Given the description of an element on the screen output the (x, y) to click on. 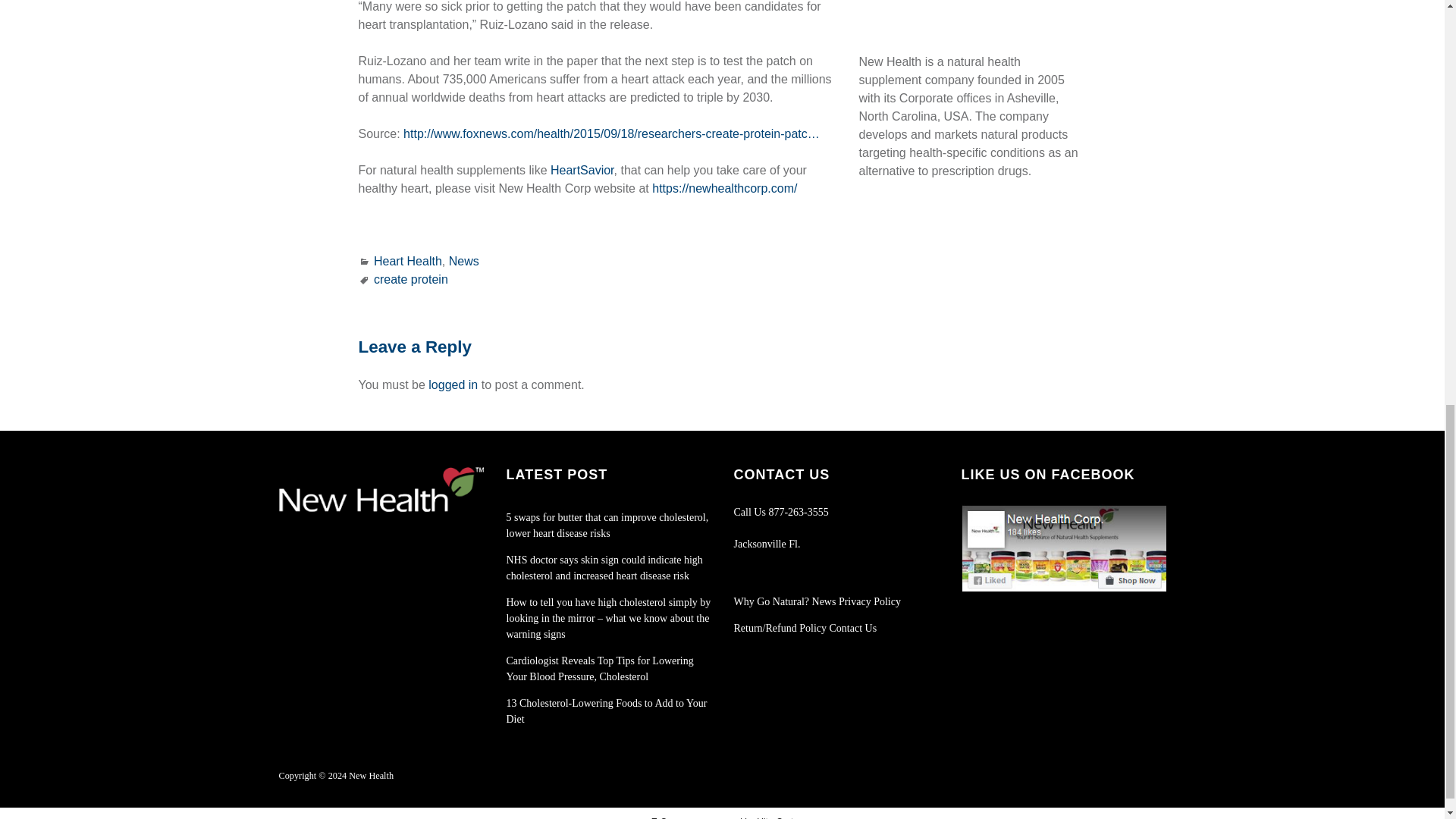
HeartSavior (582, 169)
877-263-3555 (798, 511)
News (463, 260)
logged in (452, 384)
Heart Health (408, 260)
13 Cholesterol-Lowering Foods to Add to Your Diet (606, 710)
create protein (411, 278)
